Given the description of an element on the screen output the (x, y) to click on. 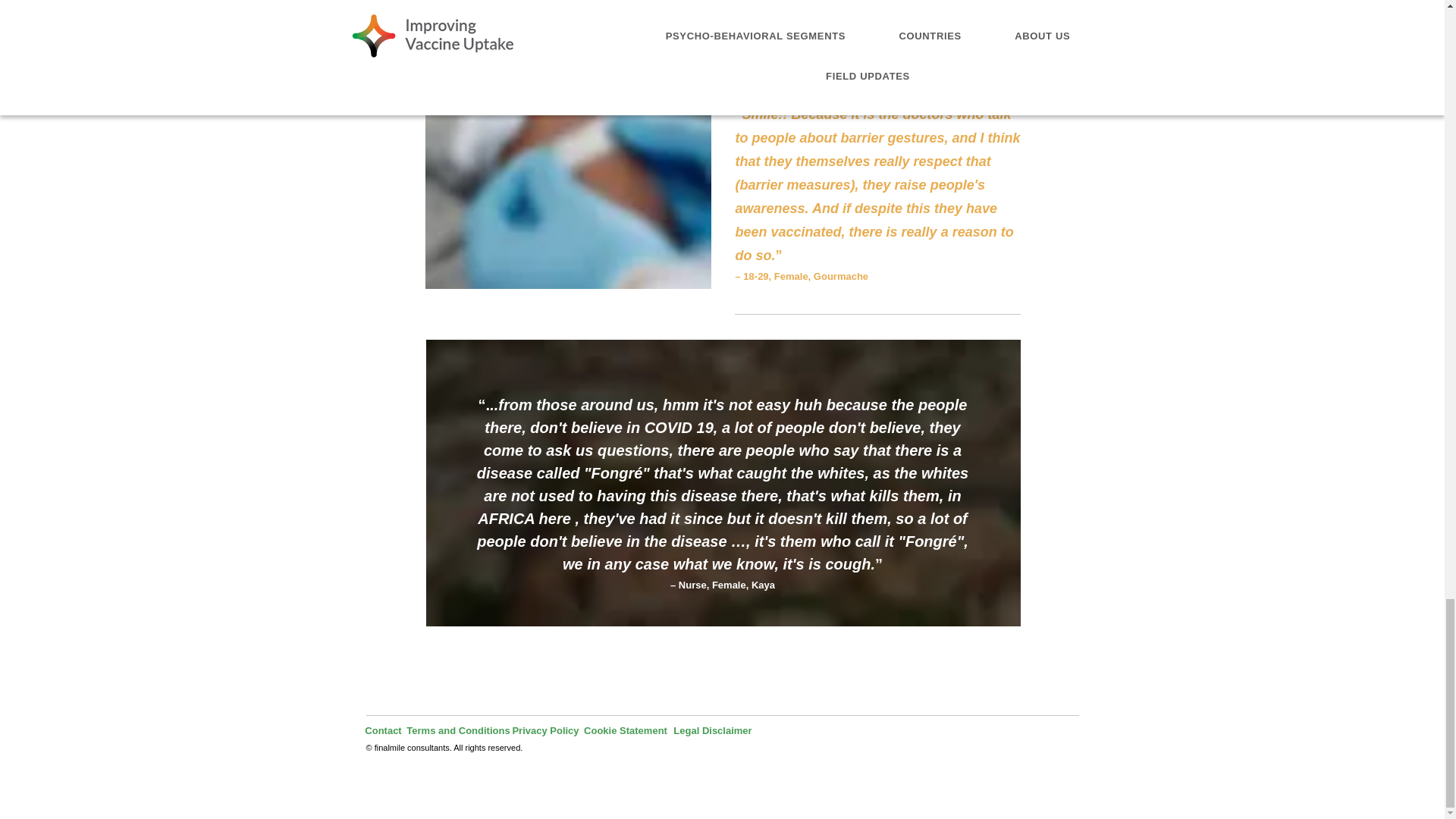
Contact (383, 730)
Legal Disclaimer (711, 730)
Cookie Statement (625, 730)
Privacy Policy (545, 730)
Terms and Conditions (458, 730)
